Given the description of an element on the screen output the (x, y) to click on. 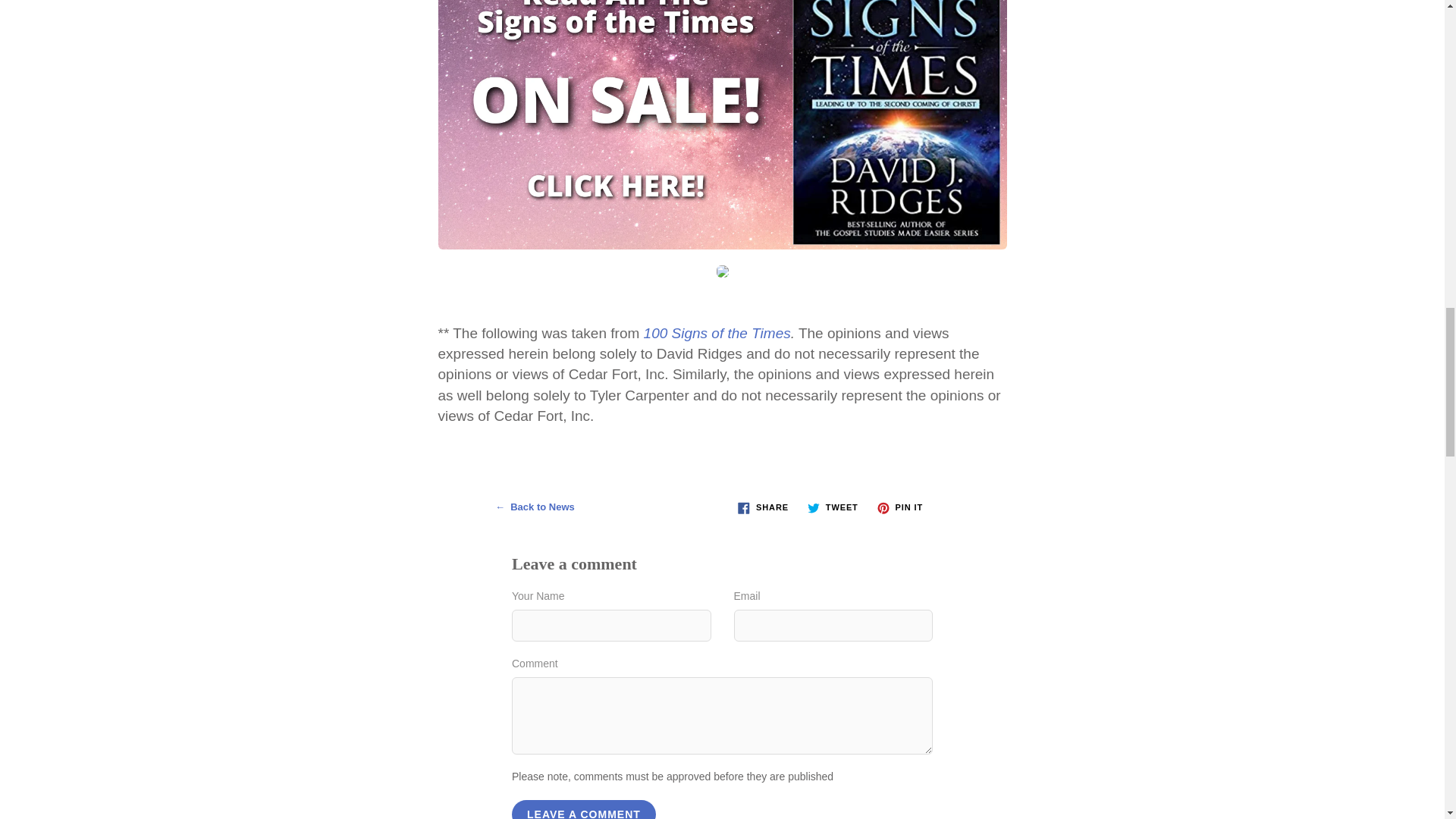
Pin on Pinterest (899, 507)
Share on Facebook (763, 507)
Tweet on Twitter (833, 507)
